Given the description of an element on the screen output the (x, y) to click on. 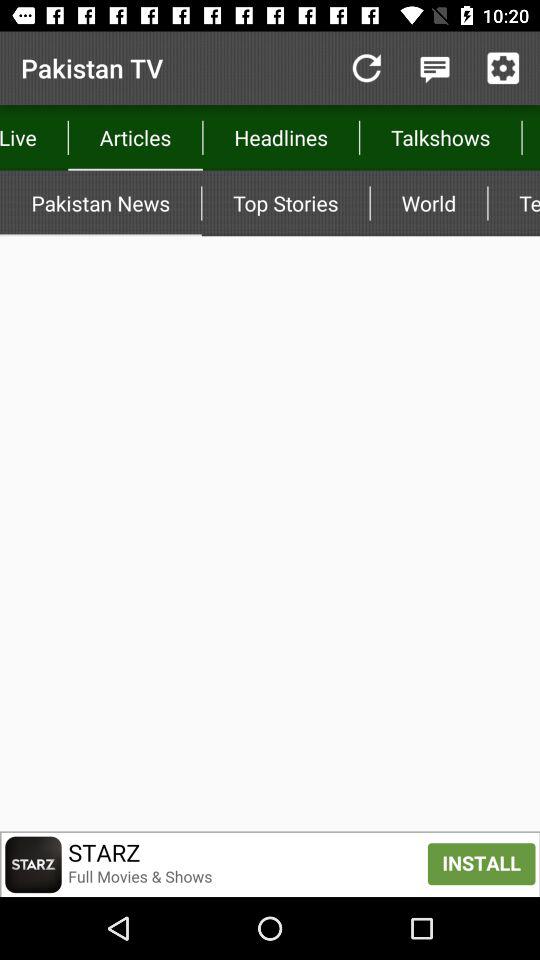
settings button (503, 67)
